Given the description of an element on the screen output the (x, y) to click on. 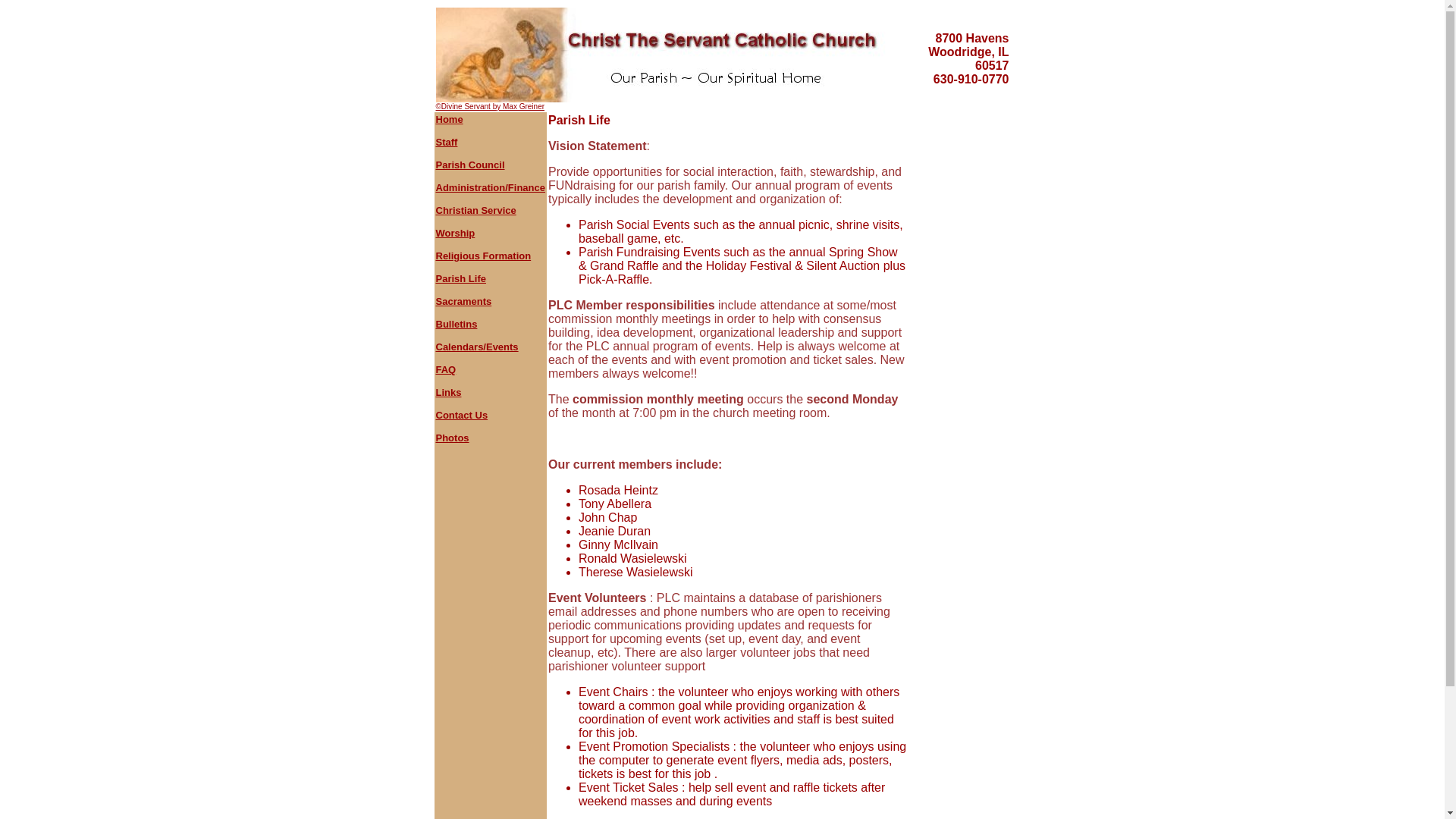
Parish Life (459, 278)
Contact Us (461, 414)
Parish Council (469, 164)
Links (448, 392)
Bulletins (456, 324)
Religious Formation (483, 255)
Staff (446, 142)
Christian Service (475, 210)
Home (449, 119)
Sacraments (463, 301)
Worship (454, 233)
Photos (451, 437)
FAQ (445, 369)
